Given the description of an element on the screen output the (x, y) to click on. 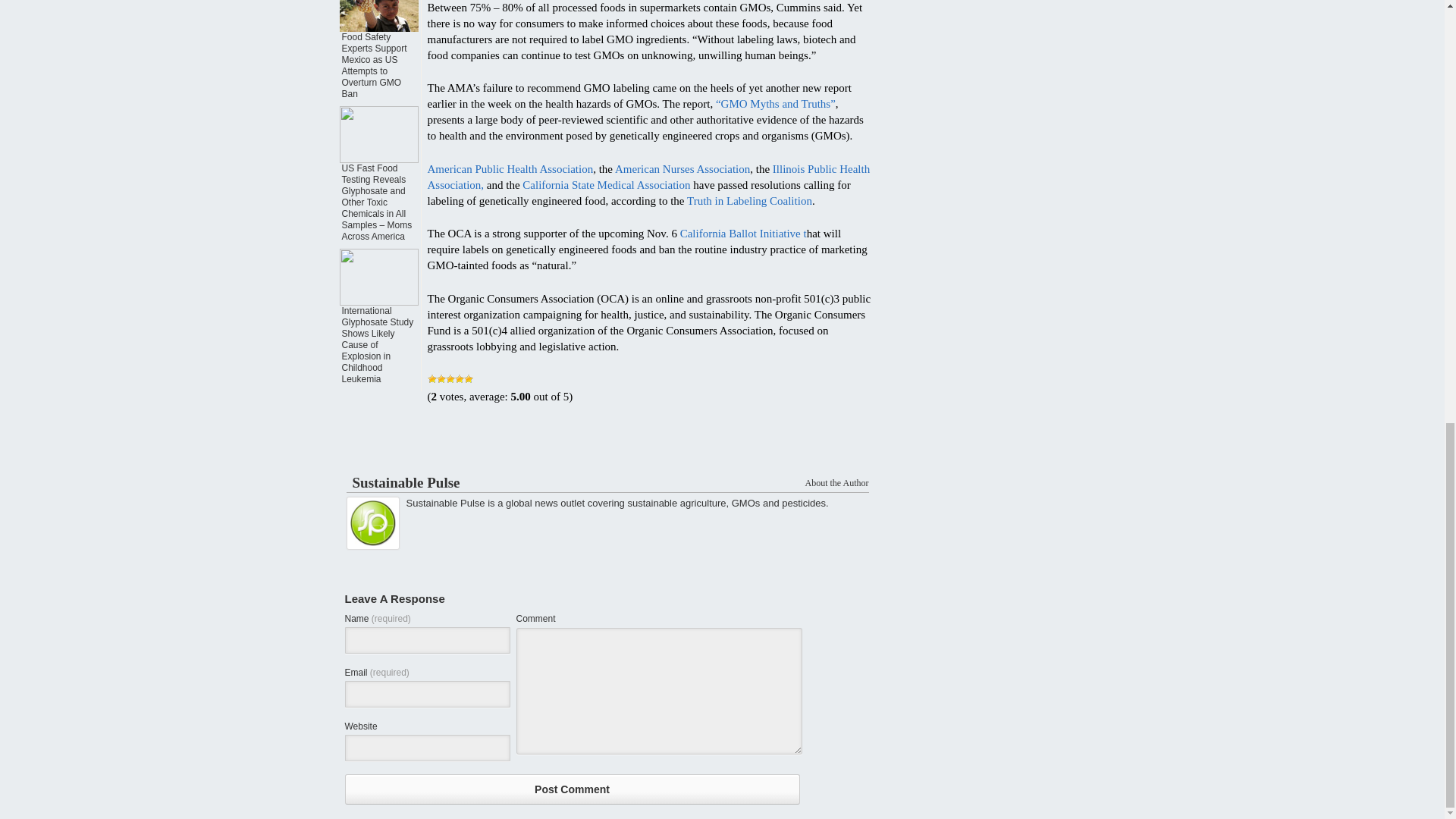
1 Star (432, 379)
5 Stars (468, 379)
 Post Comment  (571, 788)
Posts by Sustainable Pulse (406, 482)
4 Stars (459, 379)
2 Stars (440, 379)
3 Stars (449, 379)
